Given the description of an element on the screen output the (x, y) to click on. 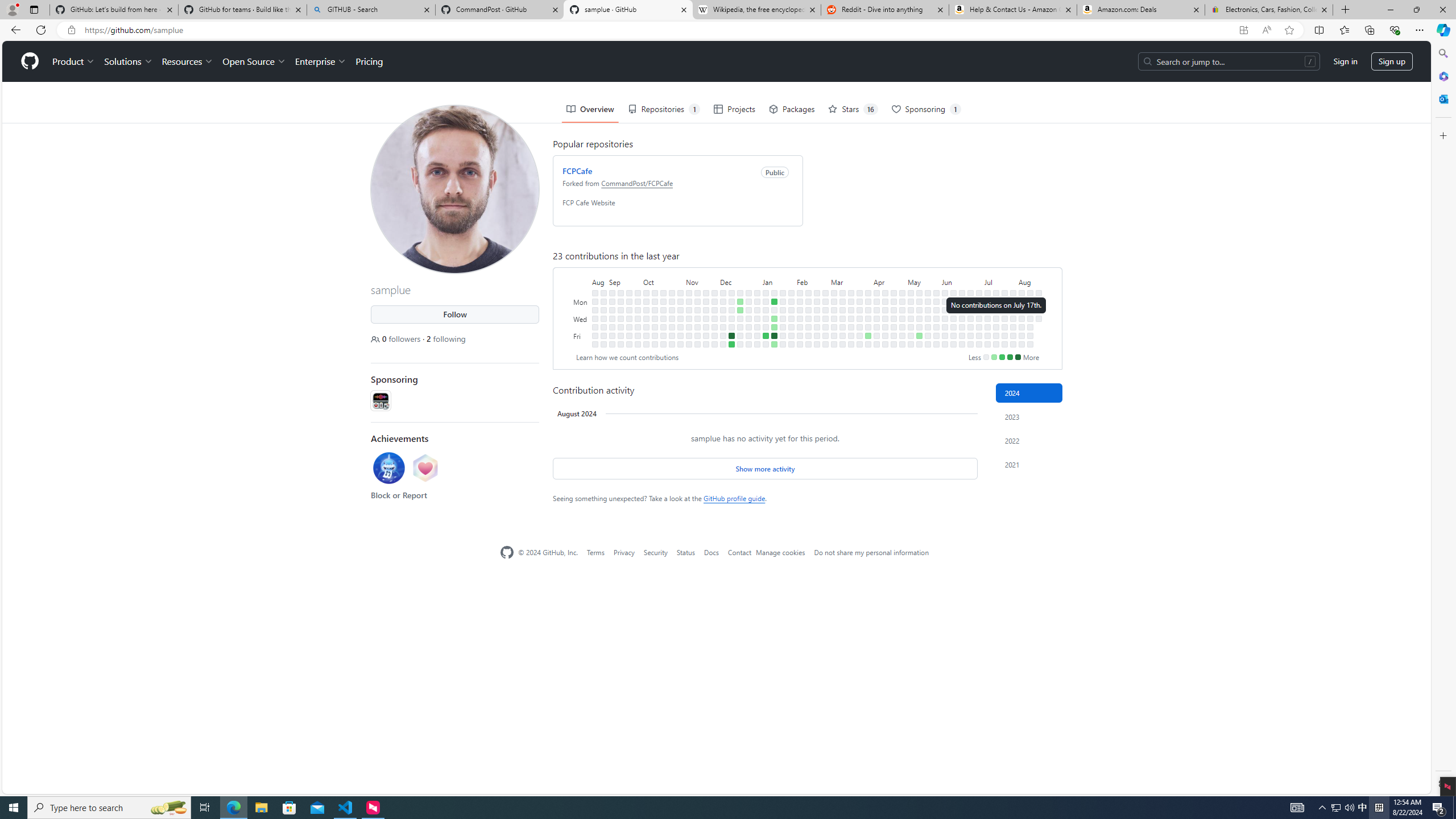
No contributions on June 10th. (953, 301)
No contributions on November 14th. (697, 309)
No contributions on October 29th. (680, 292)
No contributions on September 30th. (637, 343)
No contributions on October 12th. (655, 326)
No contributions on January 31st. (790, 318)
No contributions on June 7th. (944, 335)
No contributions on May 30th. (936, 326)
Achievement: Public Sponsor (425, 468)
No contributions on May 8th. (910, 318)
No contributions on August 17th. (1029, 343)
No contributions on November 8th. (688, 318)
6 contributions on December 15th. (731, 335)
No contributions on September 5th. (611, 309)
